Given the description of an element on the screen output the (x, y) to click on. 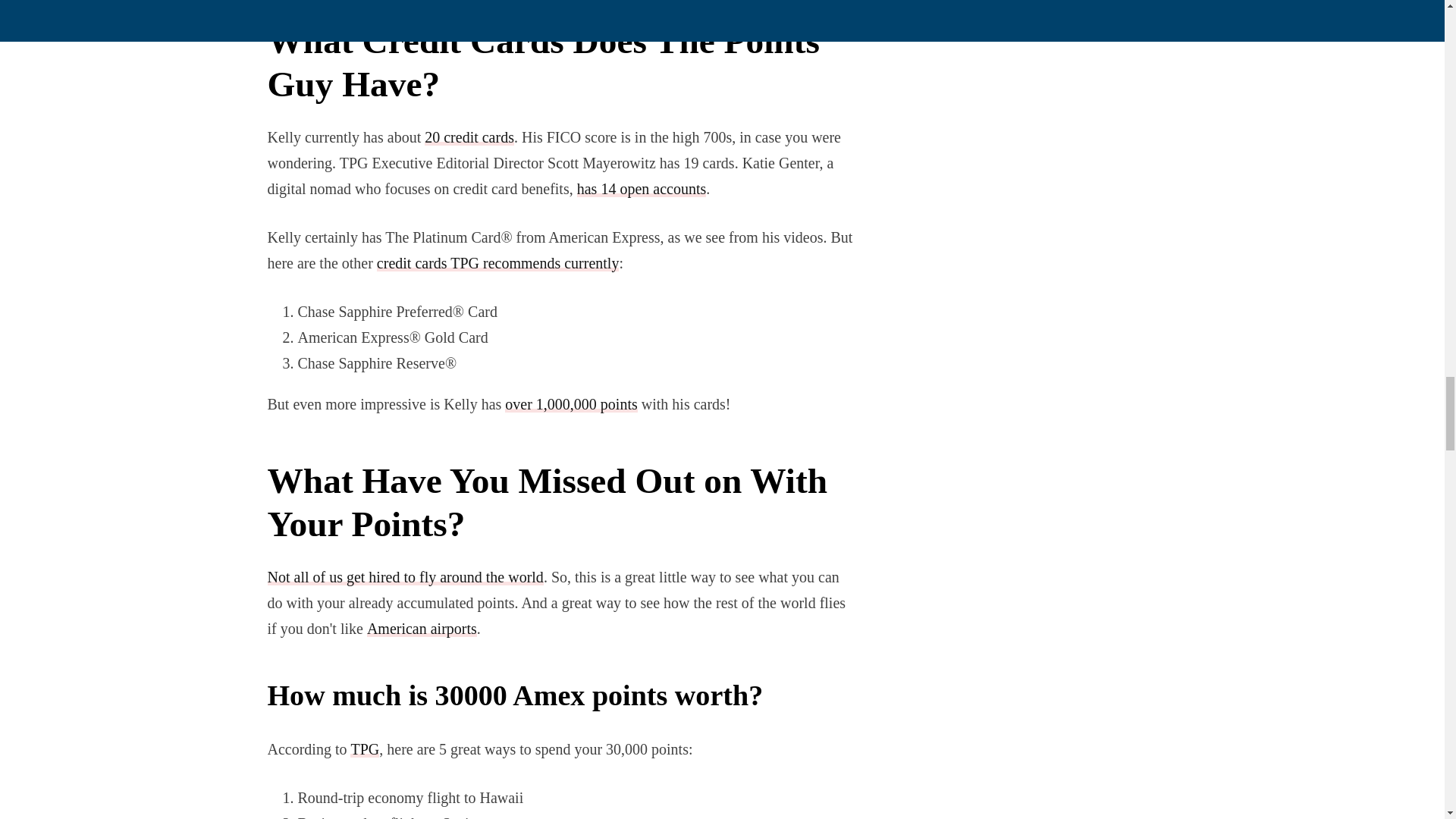
American airports (421, 628)
20 credit cards (469, 136)
credit cards TPG recommends currently (498, 262)
Not all of us get hired to fly around the world (404, 576)
has 14 open accounts (641, 188)
over 1,000,000 points (571, 403)
TPG (364, 749)
